Given the description of an element on the screen output the (x, y) to click on. 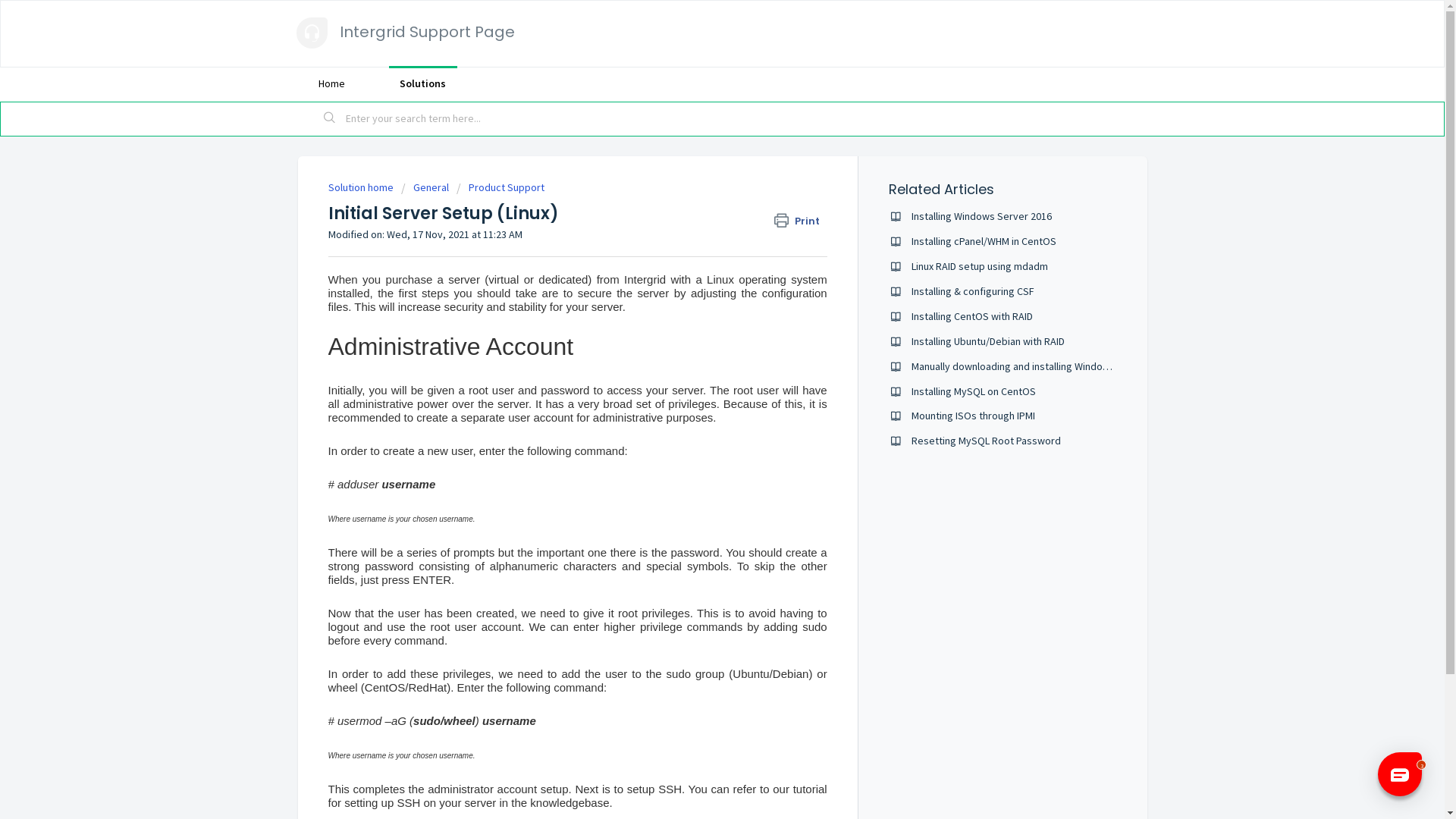
Print Element type: text (800, 221)
Installing Ubuntu/Debian with RAID Element type: text (987, 341)
Installing CentOS with RAID Element type: text (971, 316)
Mounting ISOs through IPMI Element type: text (973, 415)
Solution home Element type: text (361, 187)
Installing MySQL on CentOS Element type: text (973, 391)
Linux RAID setup using mdadm Element type: text (979, 266)
Installing & configuring CSF Element type: text (972, 291)
Solutions Element type: text (422, 83)
Home Element type: text (331, 83)
Installing cPanel/WHM in CentOS Element type: text (983, 240)
General Element type: text (424, 187)
Manually downloading and installing Windows Updates Element type: text (1033, 366)
Installing Windows Server 2016 Element type: text (981, 215)
Resetting MySQL Root Password Element type: text (985, 440)
Product Support Element type: text (500, 187)
